Given the description of an element on the screen output the (x, y) to click on. 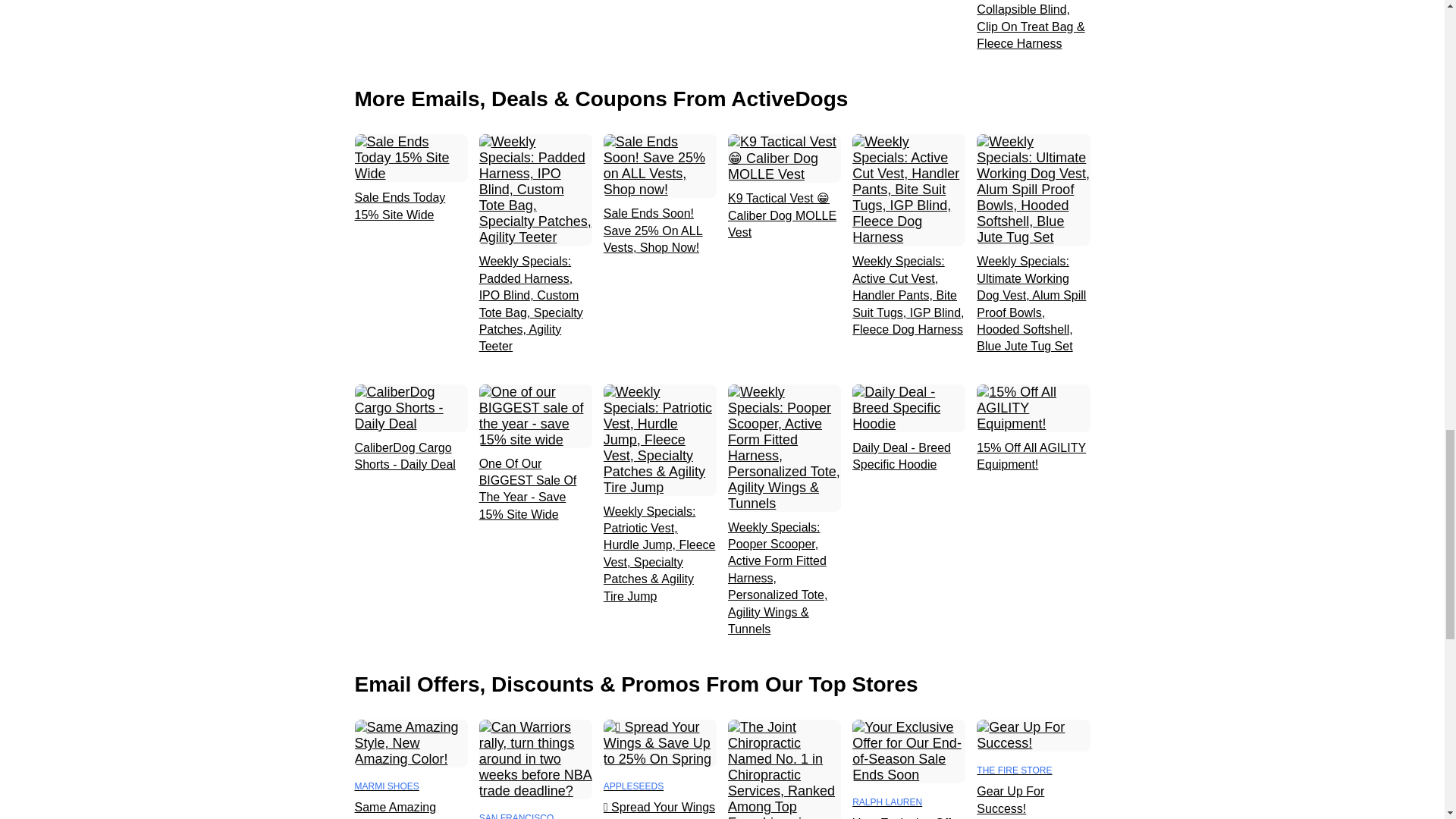
CaliberDog Cargo Shorts - Daily Deal (411, 456)
